Given the description of an element on the screen output the (x, y) to click on. 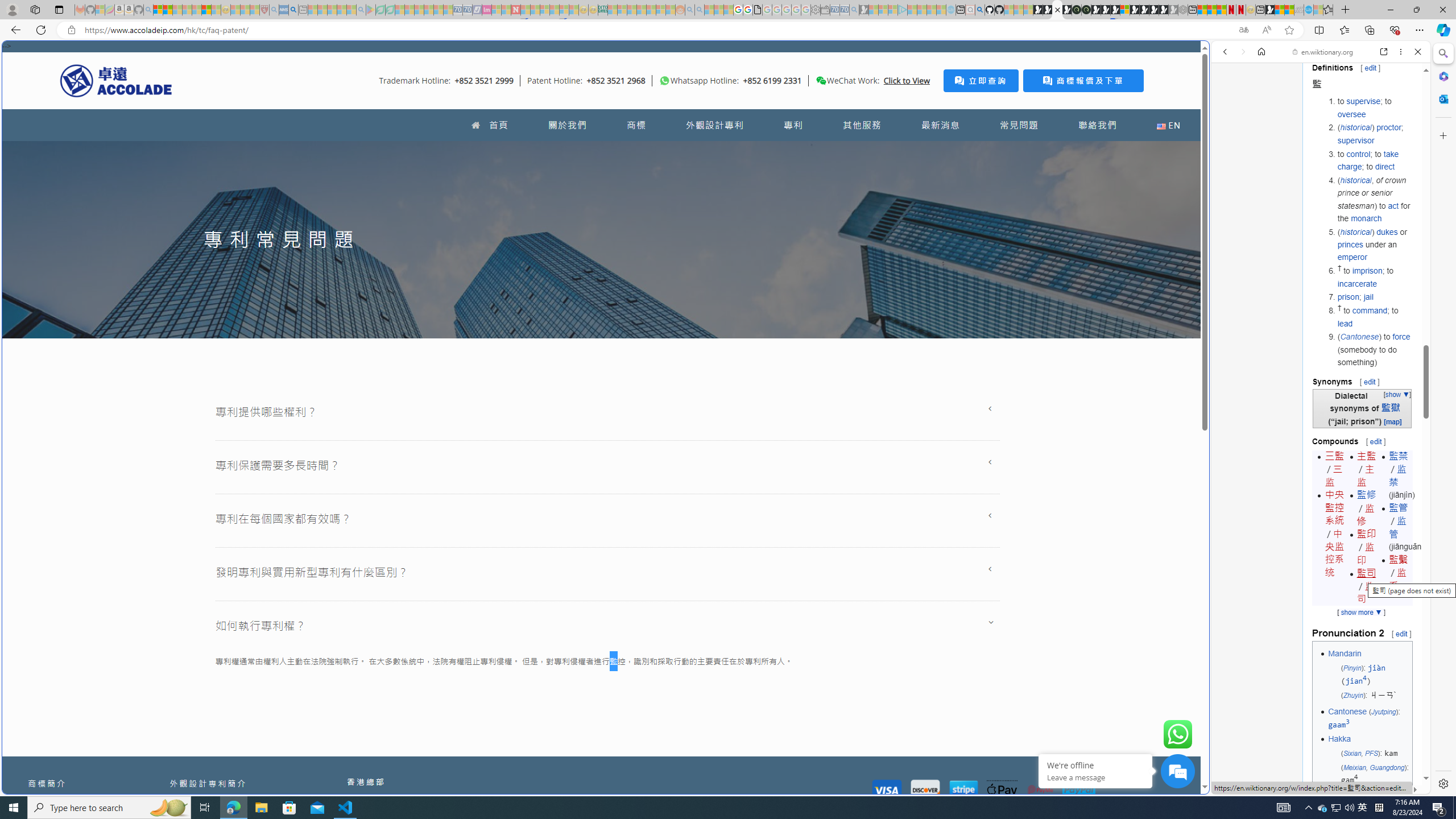
Search Filter, Search Tools (1350, 129)
Cantonese (1347, 711)
MSN (1269, 9)
Open link in new tab (1383, 51)
Latest Politics News & Archive | Newsweek.com - Sleeping (515, 9)
SEARCH TOOLS (1350, 130)
Settings - Sleeping (815, 9)
Future Focus Report 2024 (1085, 9)
Sign in to your account (1124, 9)
